Given the description of an element on the screen output the (x, y) to click on. 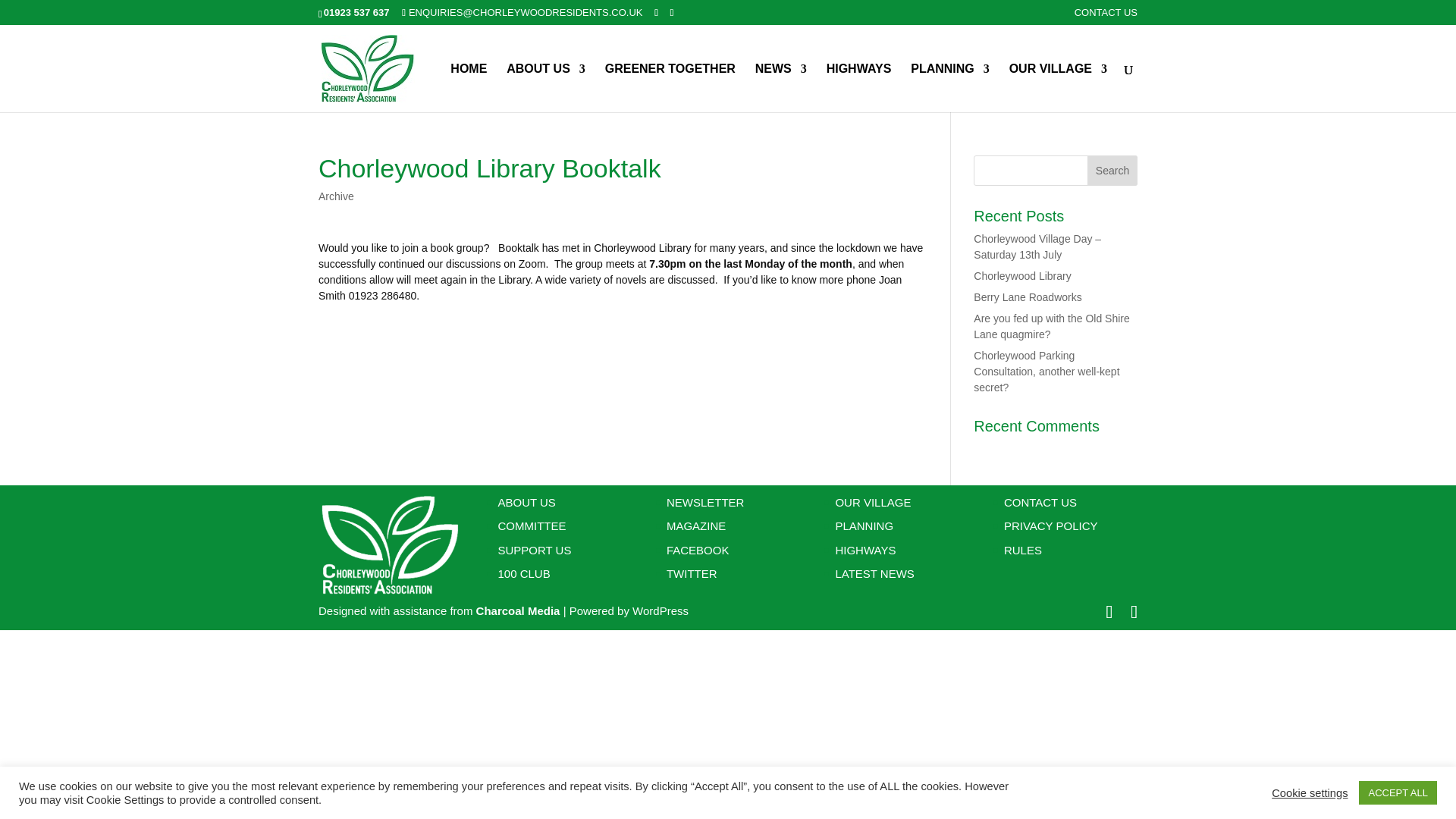
NEWS (780, 87)
OUR VILLAGE (1057, 87)
ABOUT US (545, 87)
PLANNING (950, 87)
CONTACT US (1105, 16)
HIGHWAYS (859, 87)
Search (1112, 170)
HOME (467, 87)
GREENER TOGETHER (670, 87)
